Given the description of an element on the screen output the (x, y) to click on. 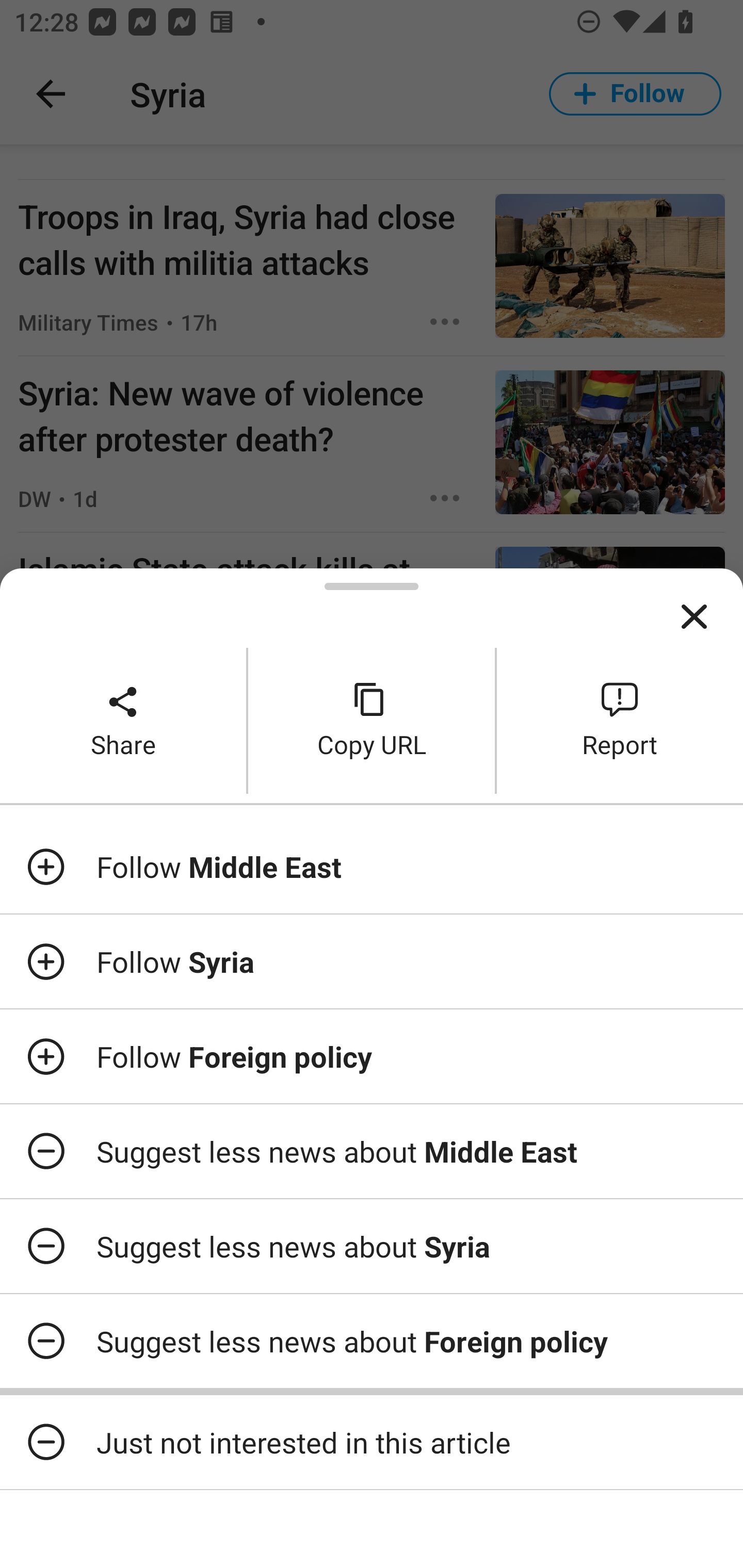
Close (694, 616)
Share (122, 720)
Copy URL (371, 720)
Report (620, 720)
Follow Middle East (371, 867)
Follow Syria (371, 961)
Follow Foreign policy (371, 1056)
Suggest less news about Middle East (371, 1150)
Suggest less news about Syria (371, 1246)
Suggest less news about Foreign policy (371, 1340)
Just not interested in this article (371, 1442)
